Given the description of an element on the screen output the (x, y) to click on. 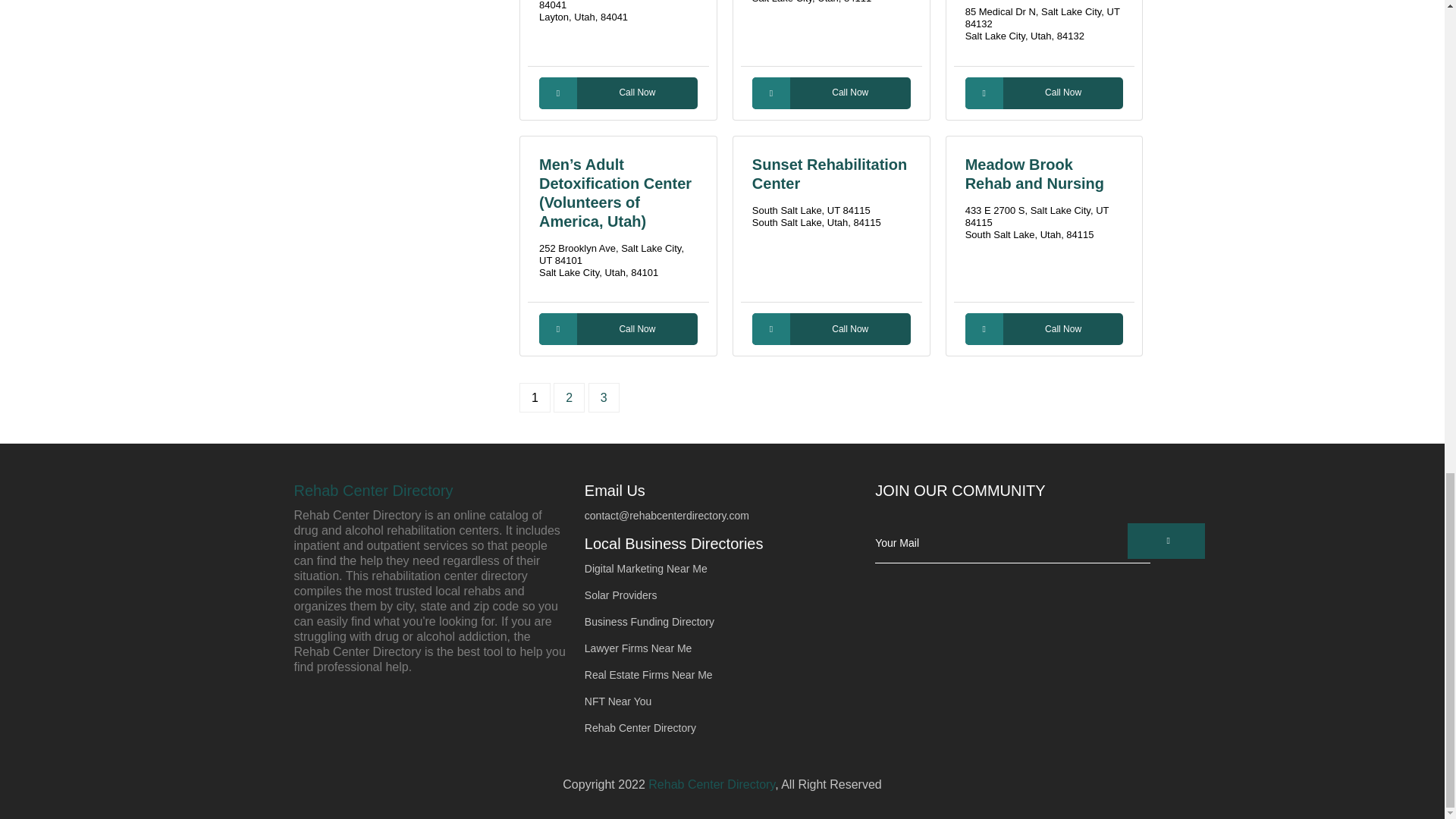
Call Now (831, 328)
Call Now (1044, 92)
Meadow Brook Rehab and Nursing (1034, 173)
2 (569, 397)
Sunset Rehabilitation Center (829, 173)
Call Now (617, 328)
Lawyer Firms Near Me (639, 648)
Business Funding Directory (649, 621)
3 (604, 397)
Call Now (831, 92)
